Given the description of an element on the screen output the (x, y) to click on. 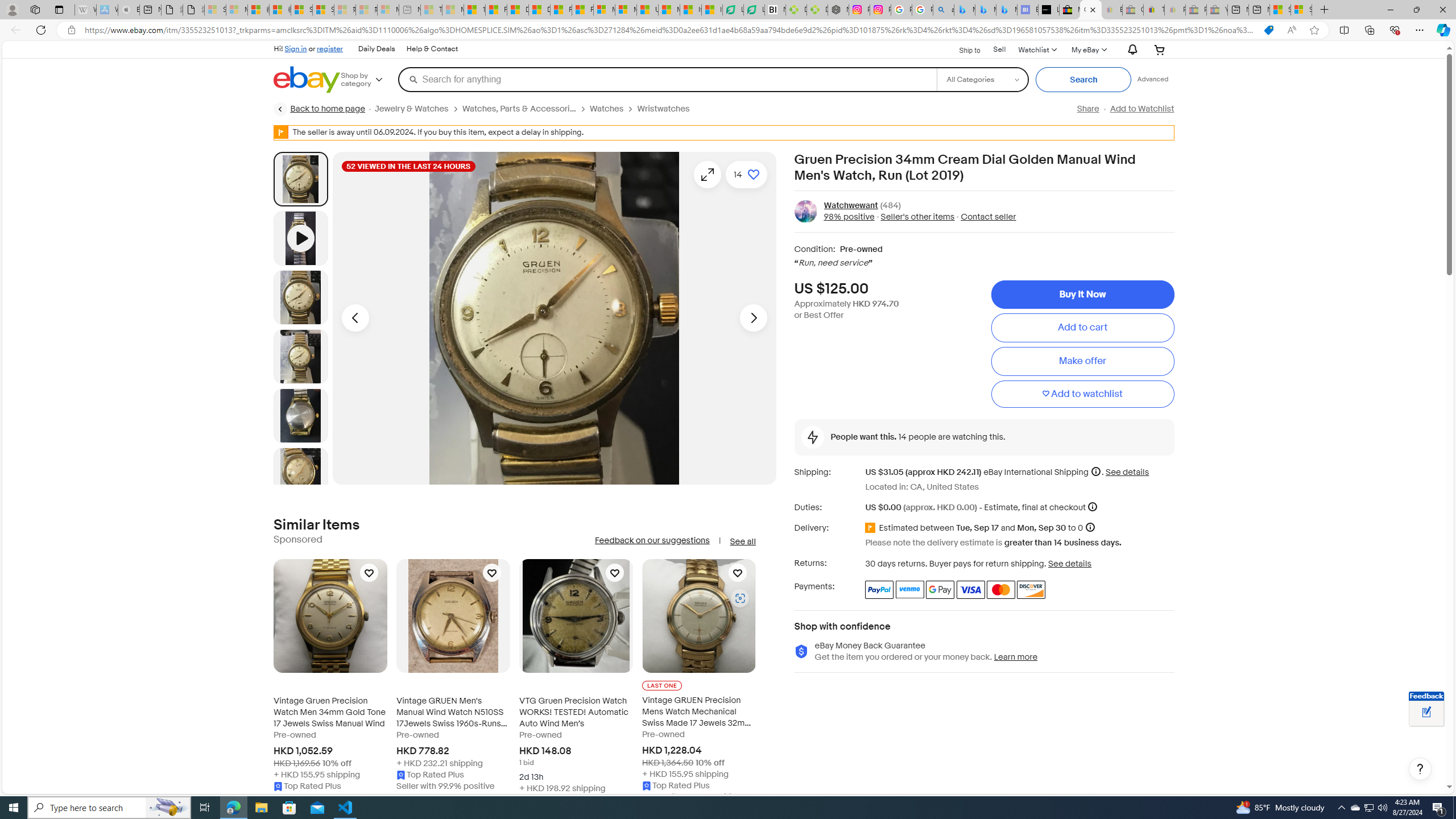
Delivery alert flag (871, 528)
Drinking tea every day is proven to delay biological aging (539, 9)
Yard, Garden & Outdoor Living - Sleeping (1216, 9)
register (329, 48)
Picture 3 of 13 (300, 356)
Watches, Parts & Accessories (518, 108)
Opens image gallery (708, 174)
Seller's other items (917, 216)
  Contact seller (984, 216)
